Given the description of an element on the screen output the (x, y) to click on. 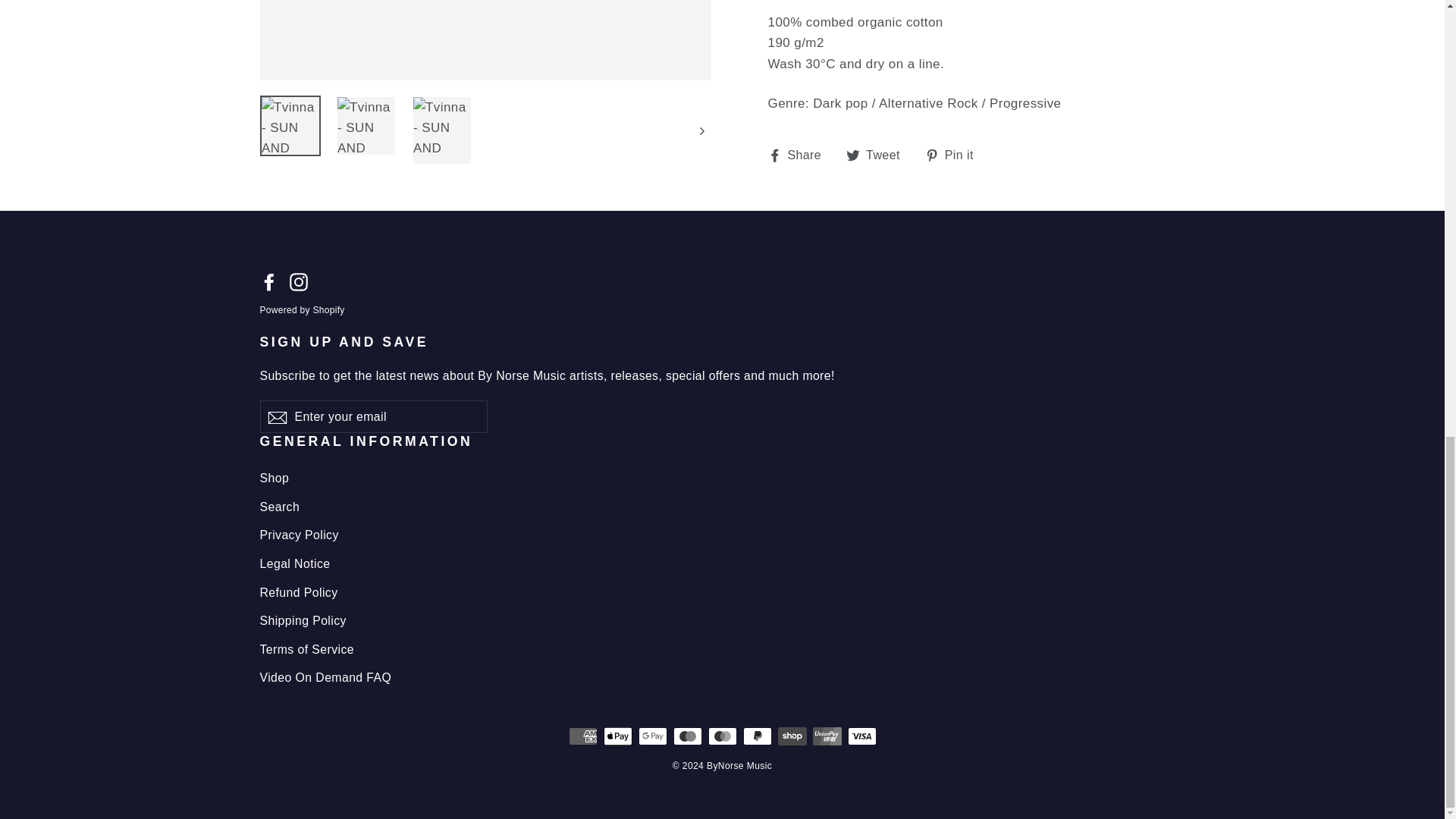
Tweet on Twitter (878, 154)
Google Pay (652, 736)
Shop Pay (791, 736)
Mastercard (721, 736)
Subscribe (276, 416)
Shop (799, 154)
Maestro (722, 478)
ByNorse Music on Instagram (878, 154)
Instagram (686, 736)
Pin on Pinterest (298, 281)
Powered by Shopify (298, 281)
Apple Pay (954, 154)
